Given the description of an element on the screen output the (x, y) to click on. 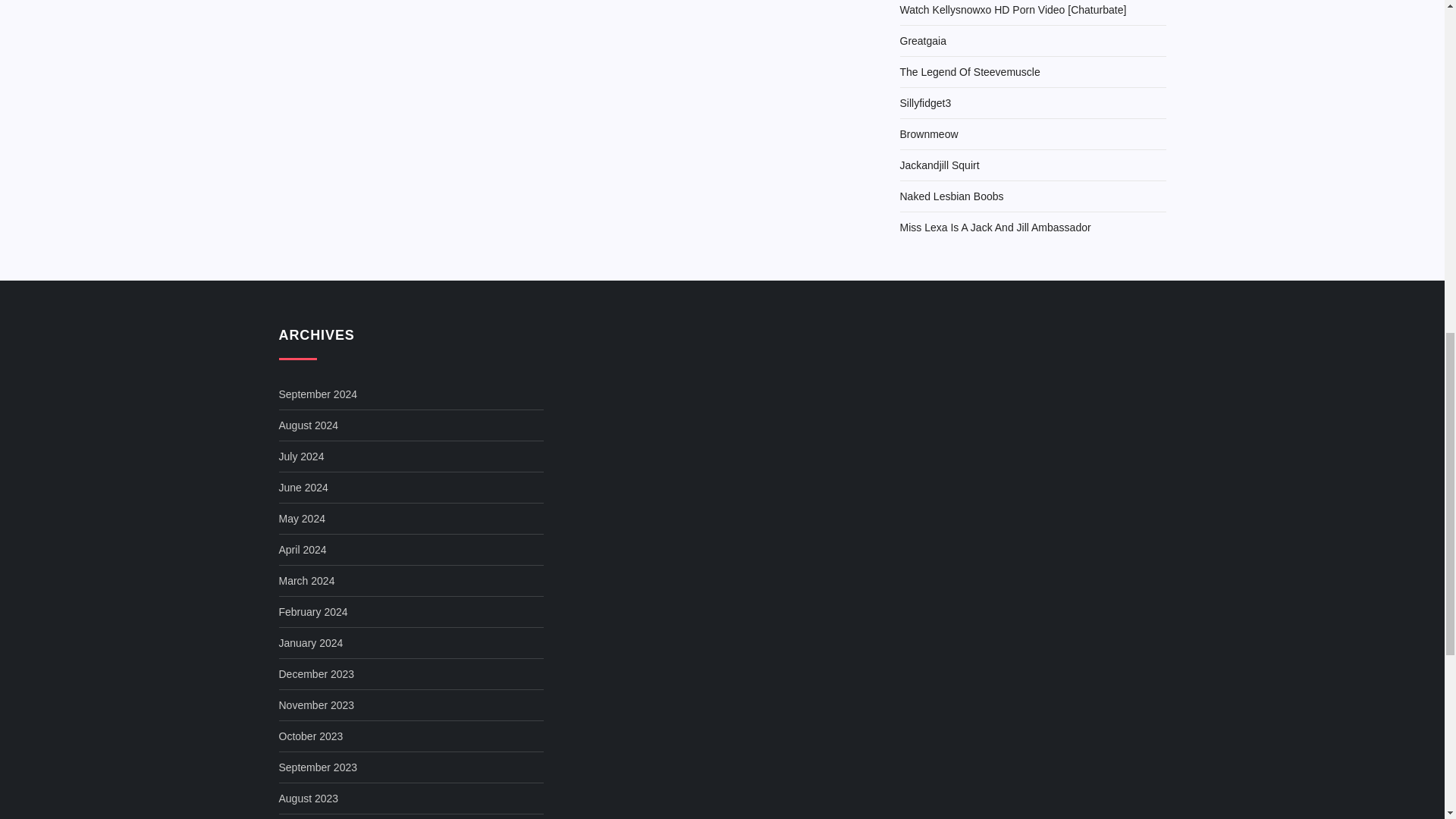
Greatgaia (921, 40)
Naked Lesbian Boobs (951, 196)
July 2024 (301, 456)
June 2024 (304, 487)
Sillyfidget3 (924, 103)
Miss Lexa Is A Jack And Jill Ambassador (994, 227)
The Legend Of Steevemuscle (969, 71)
August 2024 (309, 424)
Brownmeow (928, 134)
September 2024 (318, 394)
